Given the description of an element on the screen output the (x, y) to click on. 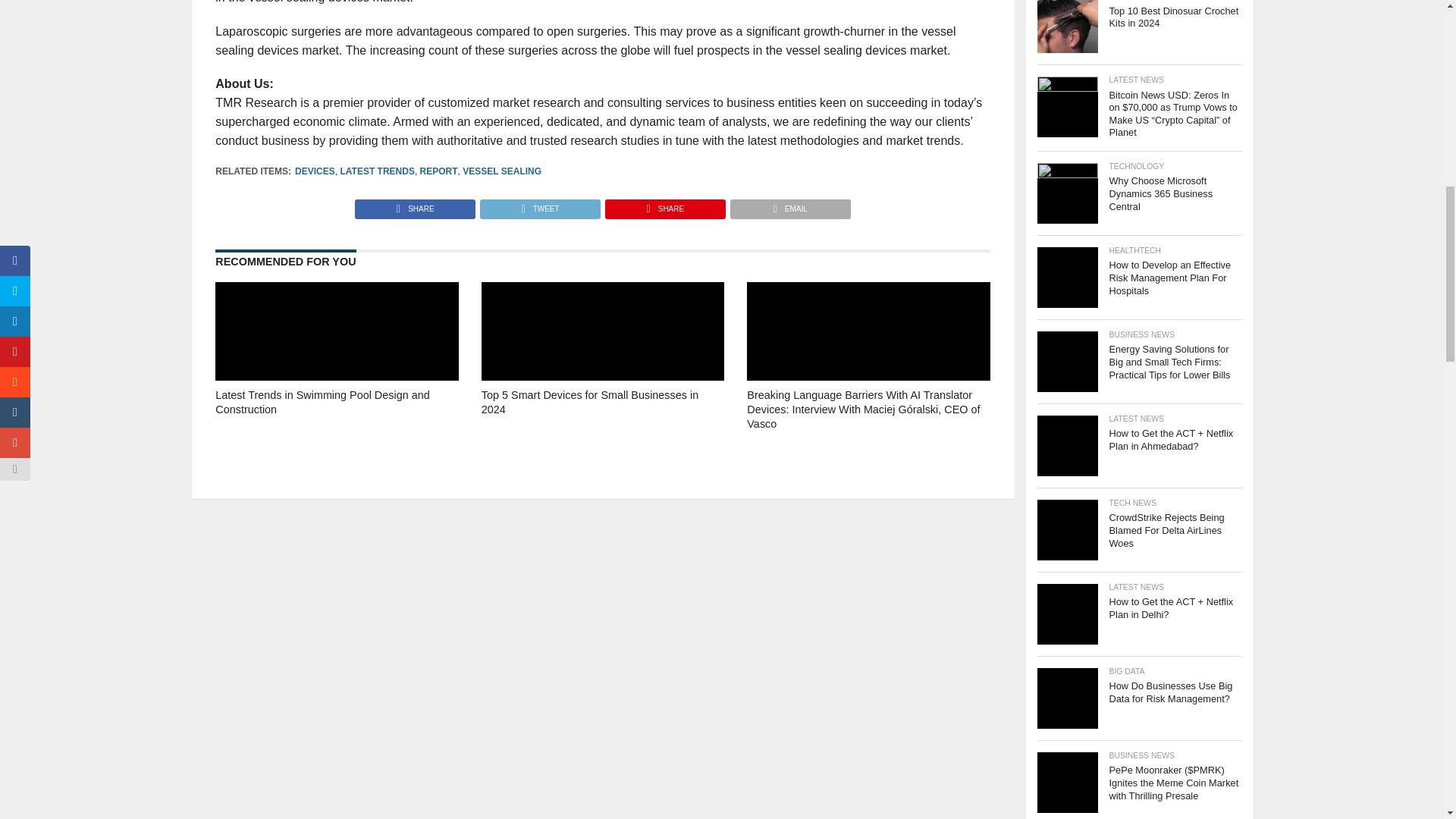
Pin This Post (664, 205)
Top 5 Smart Devices for Small Businesses in 2024 (602, 422)
Share on Facebook (415, 205)
Tweet This Post (539, 205)
Latest Trends in Swimming Pool Design and Construction (336, 422)
